Given the description of an element on the screen output the (x, y) to click on. 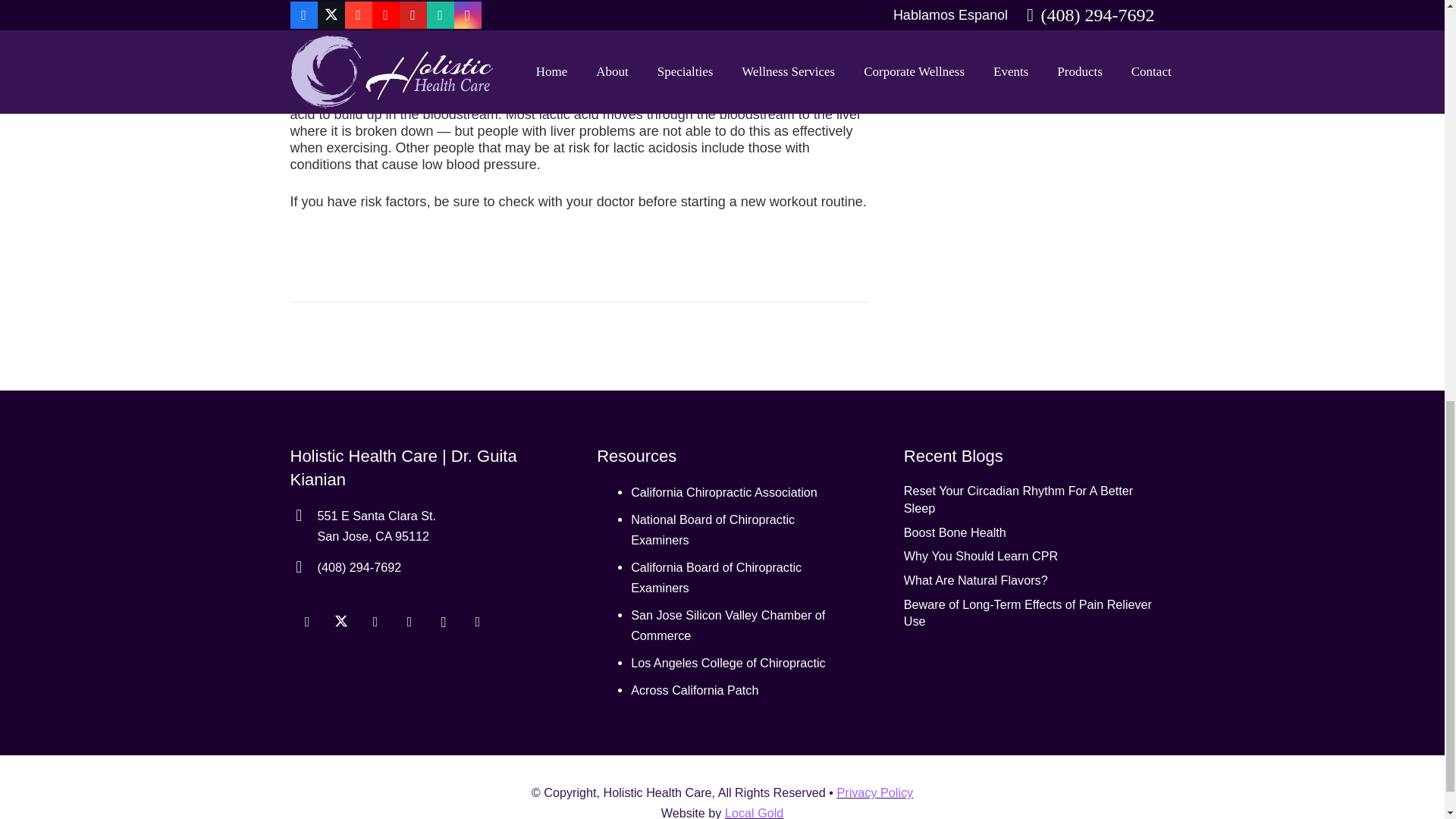
Facebook (306, 622)
Twitter (341, 622)
Google (374, 622)
